Given the description of an element on the screen output the (x, y) to click on. 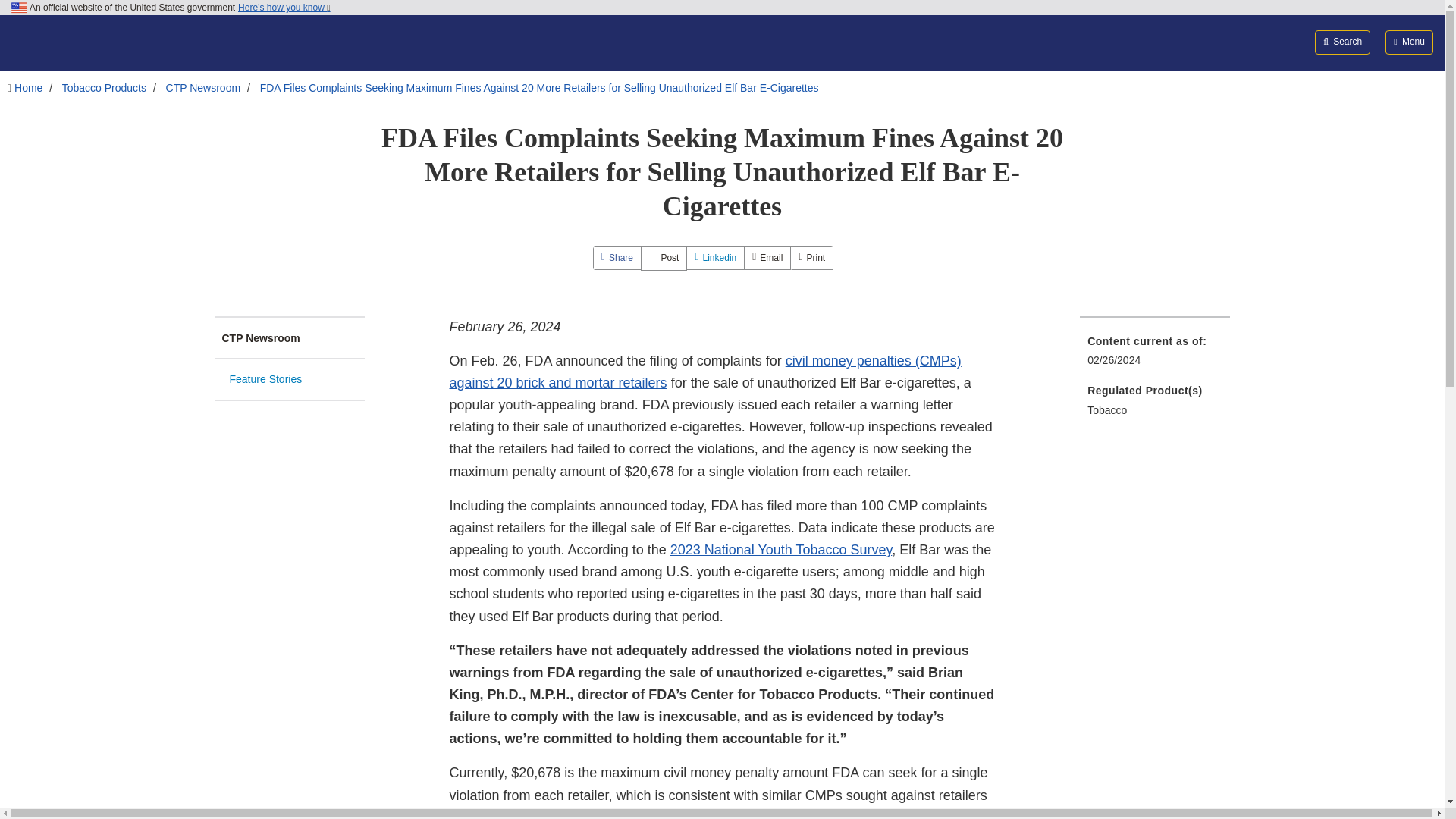
  Menu (1409, 42)
Results from the Annual National Youth Tobacco Survey (780, 549)
Print this page (811, 258)
  Search (1342, 42)
